Given the description of an element on the screen output the (x, y) to click on. 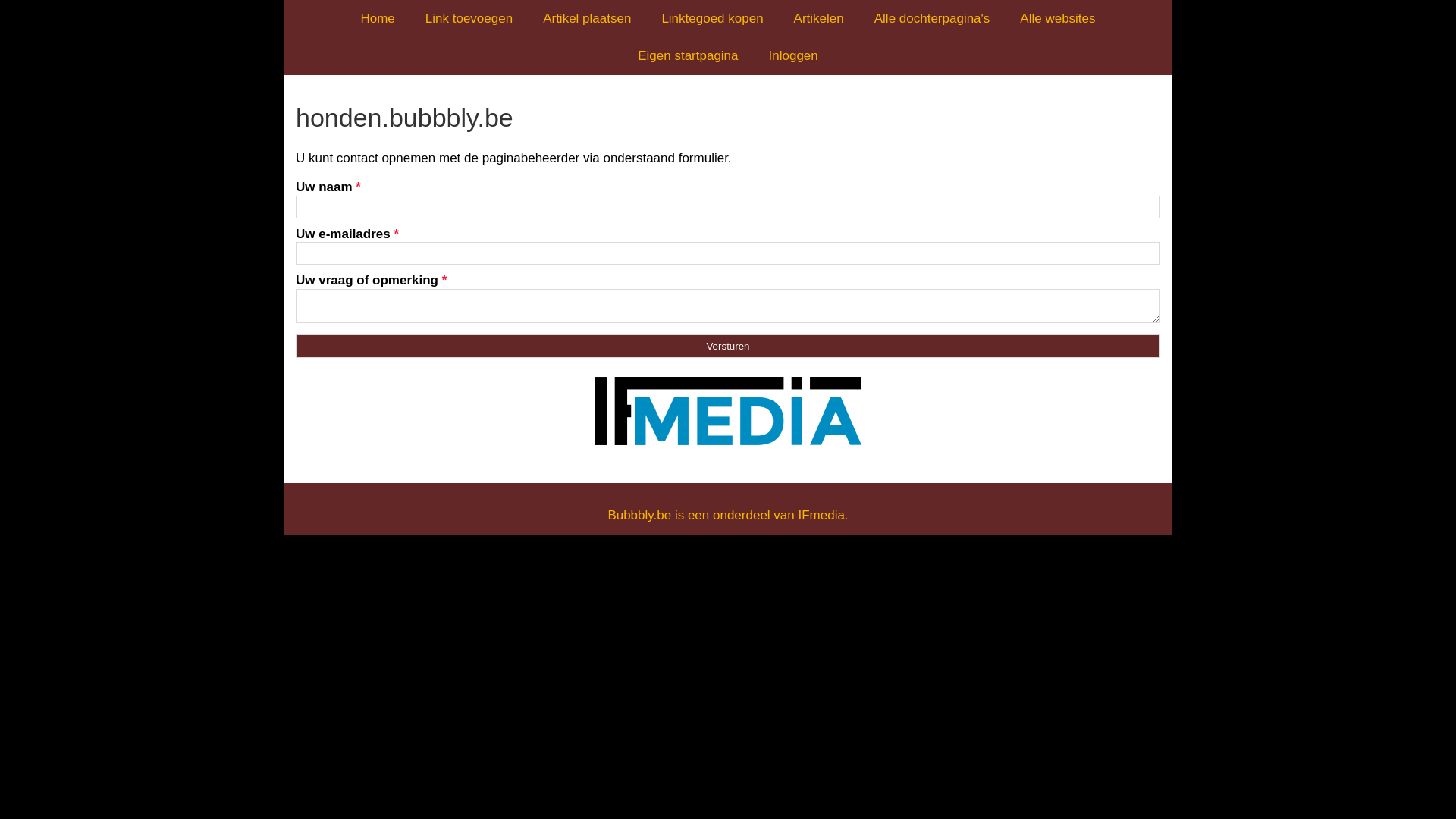
Artikel plaatsen Element type: text (586, 18)
honden.bubbbly.be Element type: text (727, 117)
Home Element type: text (377, 18)
Alle websites Element type: text (1057, 18)
Artikelen Element type: text (818, 18)
Alle dochterpagina's Element type: text (932, 18)
Linktegoed kopen Element type: text (712, 18)
Link toevoegen Element type: text (468, 18)
Inloggen Element type: text (793, 55)
Versturen Element type: text (727, 345)
Eigen startpagina Element type: text (687, 55)
